Given the description of an element on the screen output the (x, y) to click on. 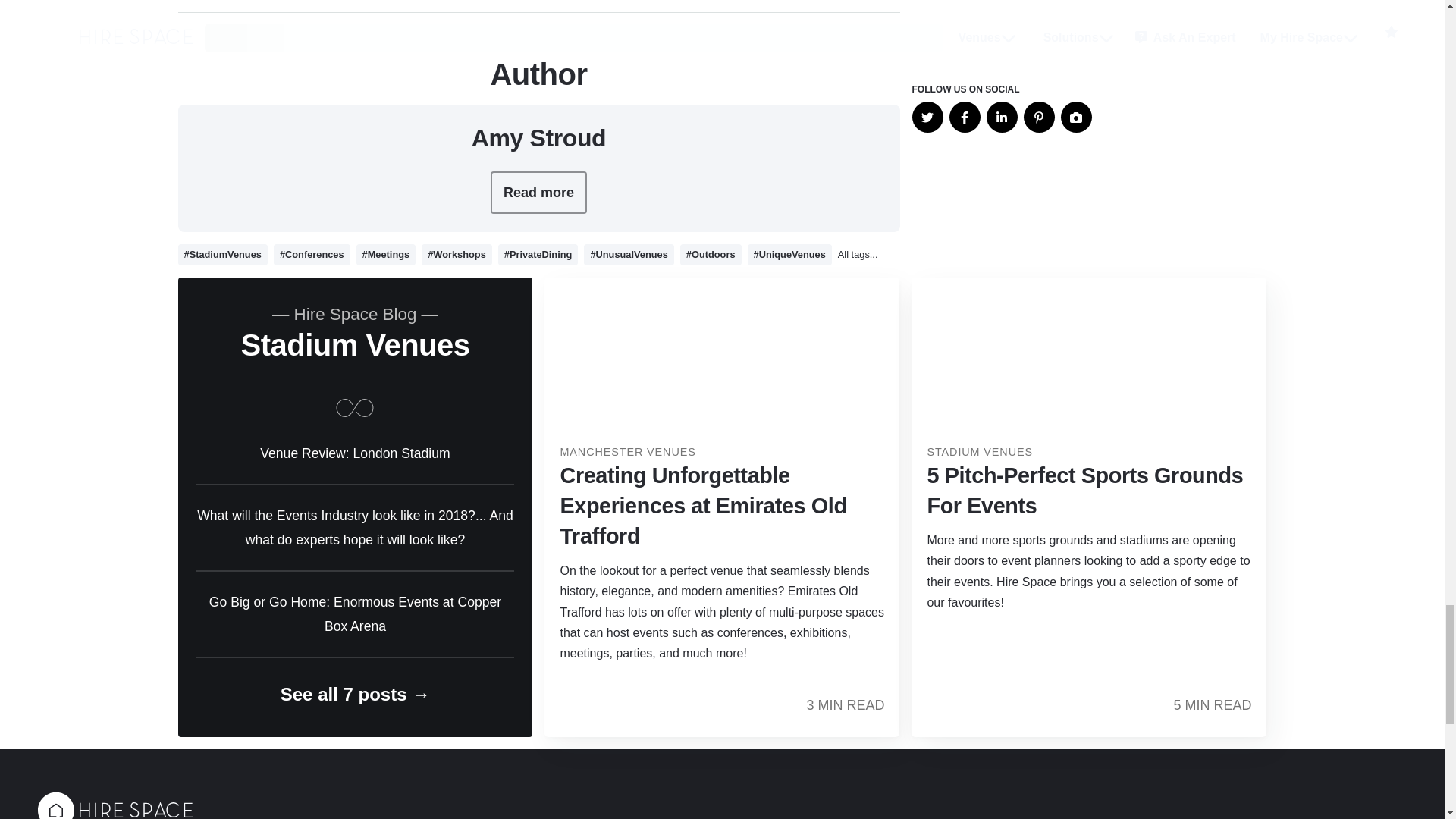
Hire Space (114, 805)
